Given the description of an element on the screen output the (x, y) to click on. 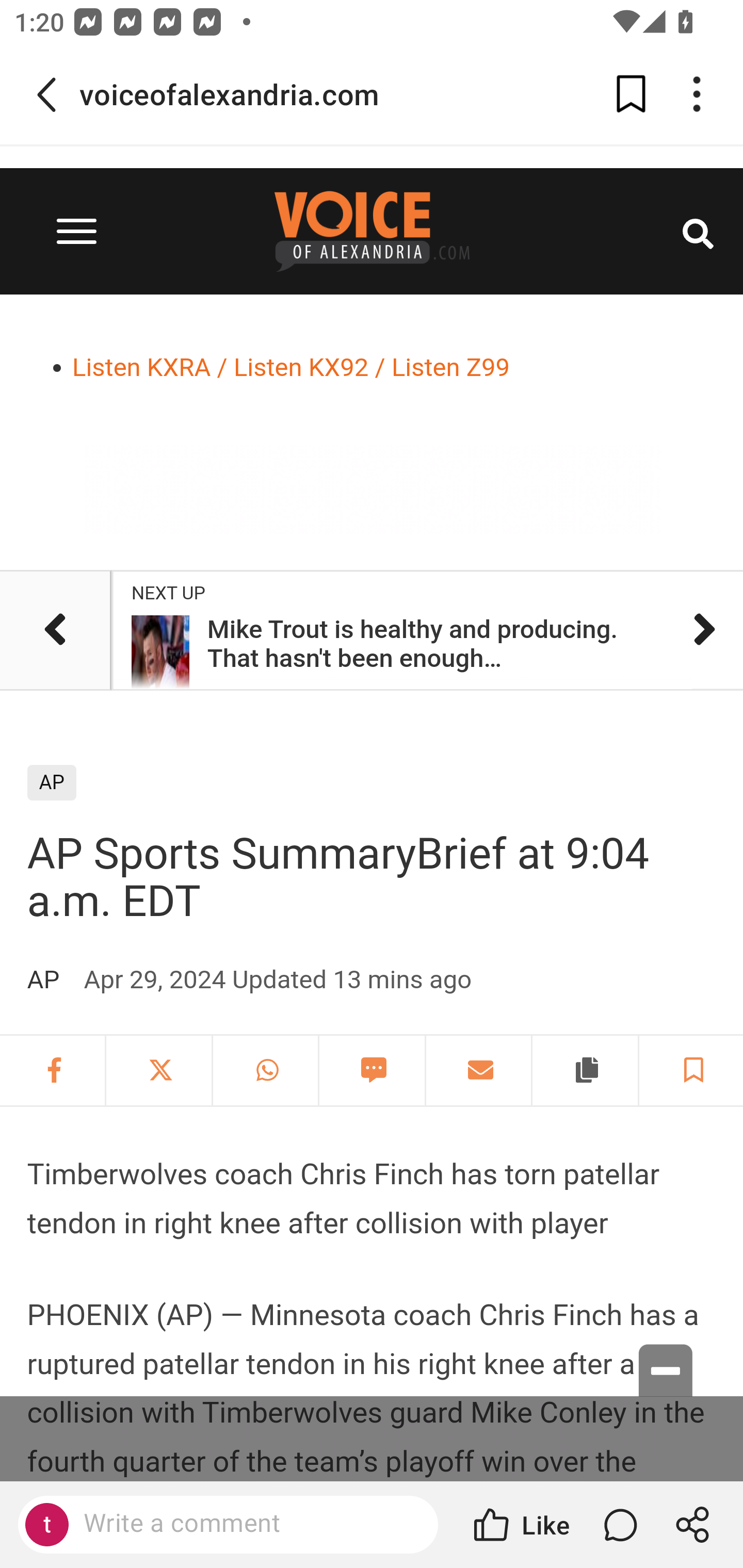
Search (697, 230)
Home page site-logo (371, 230)
Left Main Menu (76, 230)
Listen KXRA / (150, 367)
Listen KX92 / (309, 367)
Listen Z99 (450, 367)
article_936c10ee-bff8-5de7-9f57-f25e7adf29cf (54, 629)
Next Up (402, 629)
article_610242d6-b29a-54db-837e-9633b6e8f4dd (716, 629)
Facebook (54, 1070)
Twitter (161, 1070)
WhatsApp (267, 1070)
SMS (374, 1070)
Email (480, 1070)
Copy article link to clipboard Copy article link (587, 1070)
Save (690, 1070)
Like (519, 1524)
Write a comment (227, 1524)
Write a comment (245, 1523)
